Given the description of an element on the screen output the (x, y) to click on. 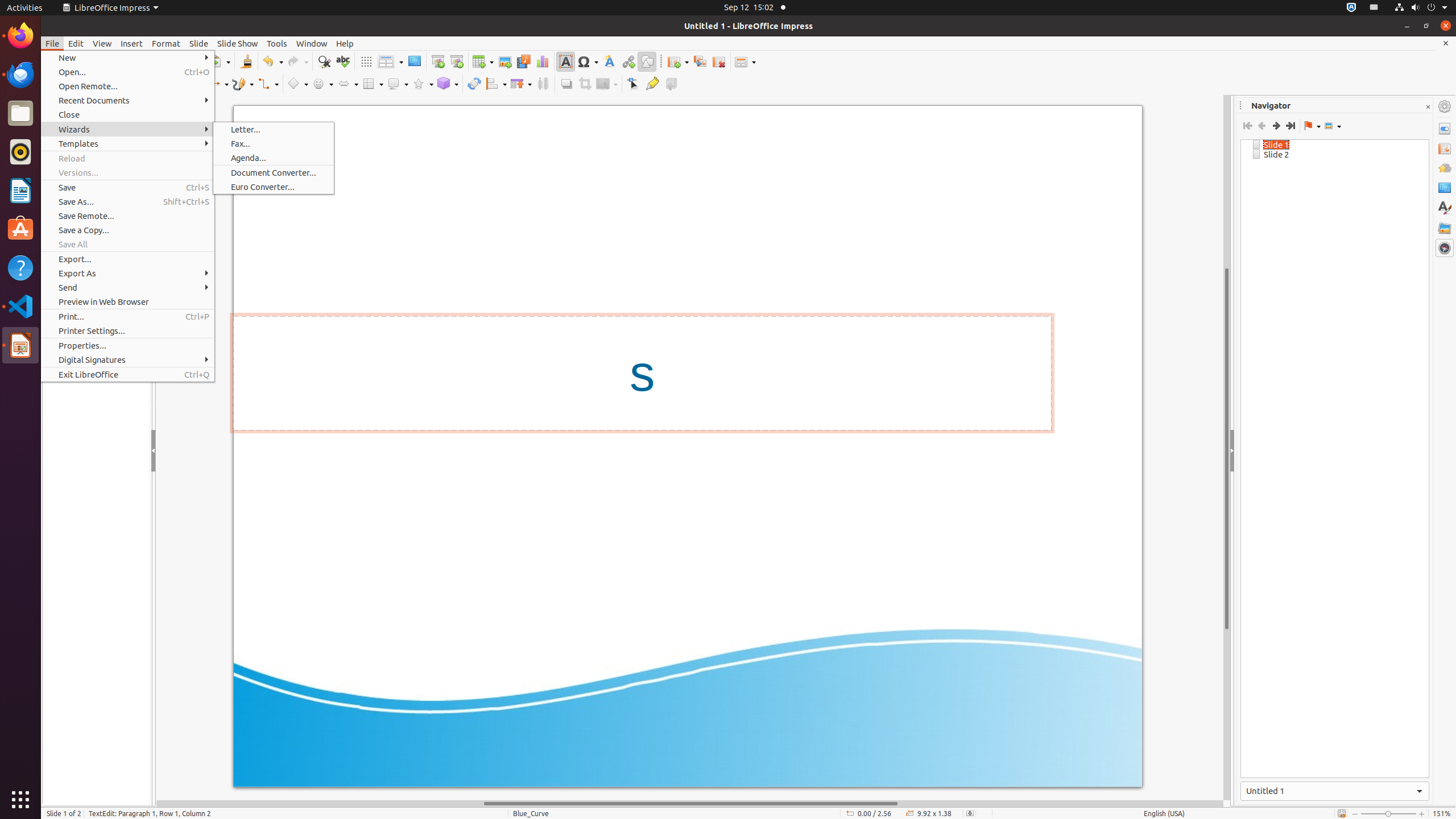
Save a Copy... Element type: menu-item (127, 229)
Master Slides Element type: radio-button (1444, 188)
Open... Element type: menu-item (127, 71)
Recent Documents Element type: menu (127, 100)
